Given the description of an element on the screen output the (x, y) to click on. 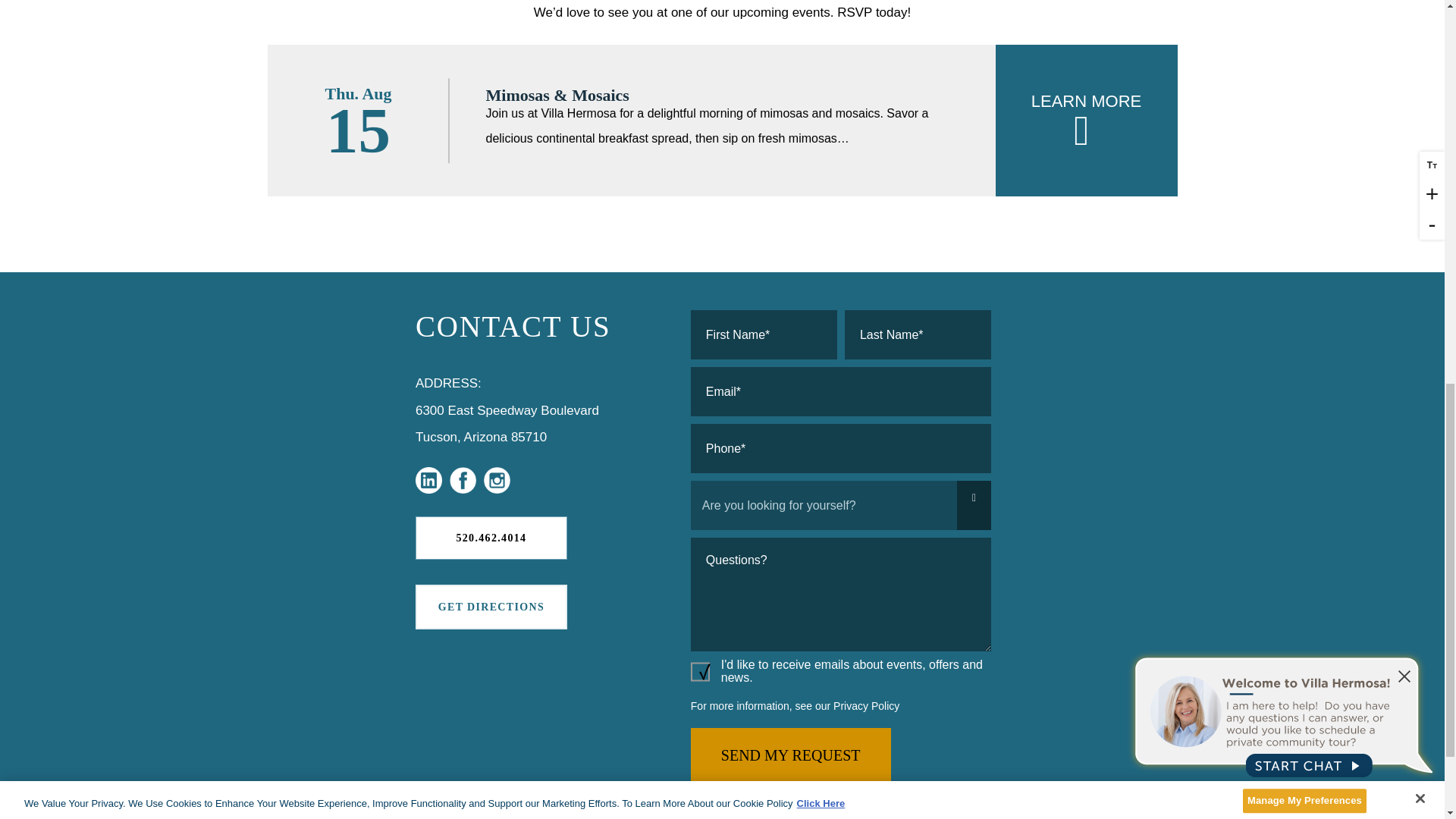
Send My Request (790, 755)
